Given the description of an element on the screen output the (x, y) to click on. 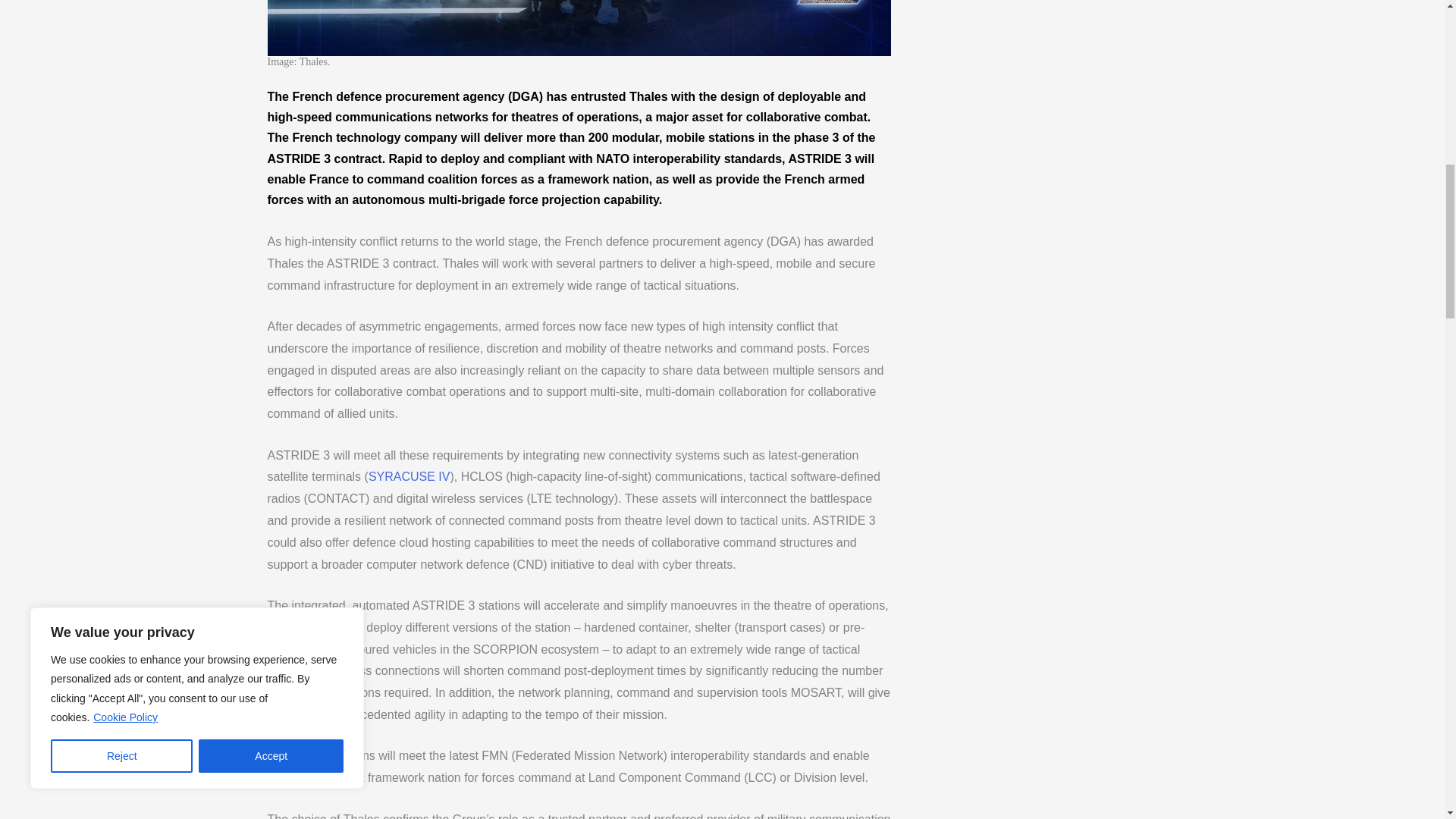
SYRACUSE IV (408, 476)
